Given the description of an element on the screen output the (x, y) to click on. 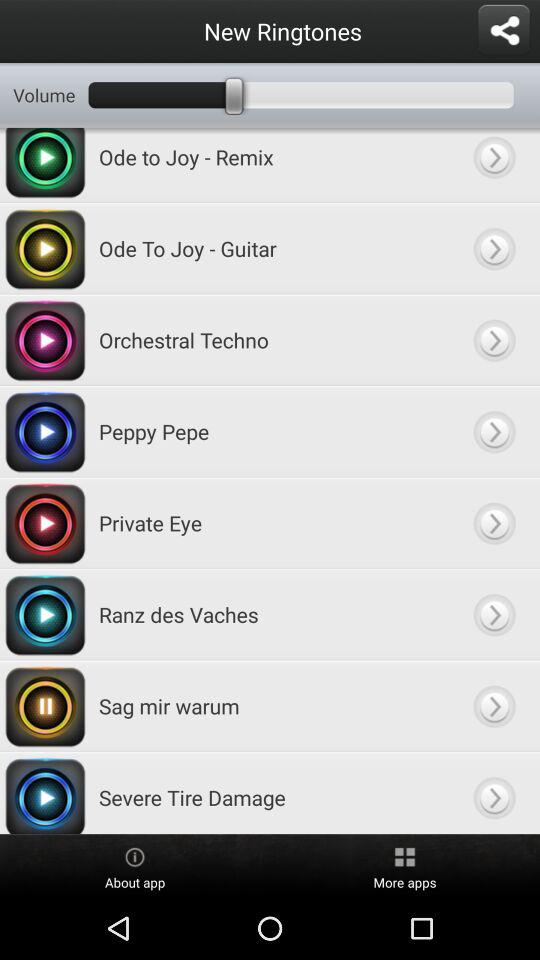
go next button (494, 339)
